Given the description of an element on the screen output the (x, y) to click on. 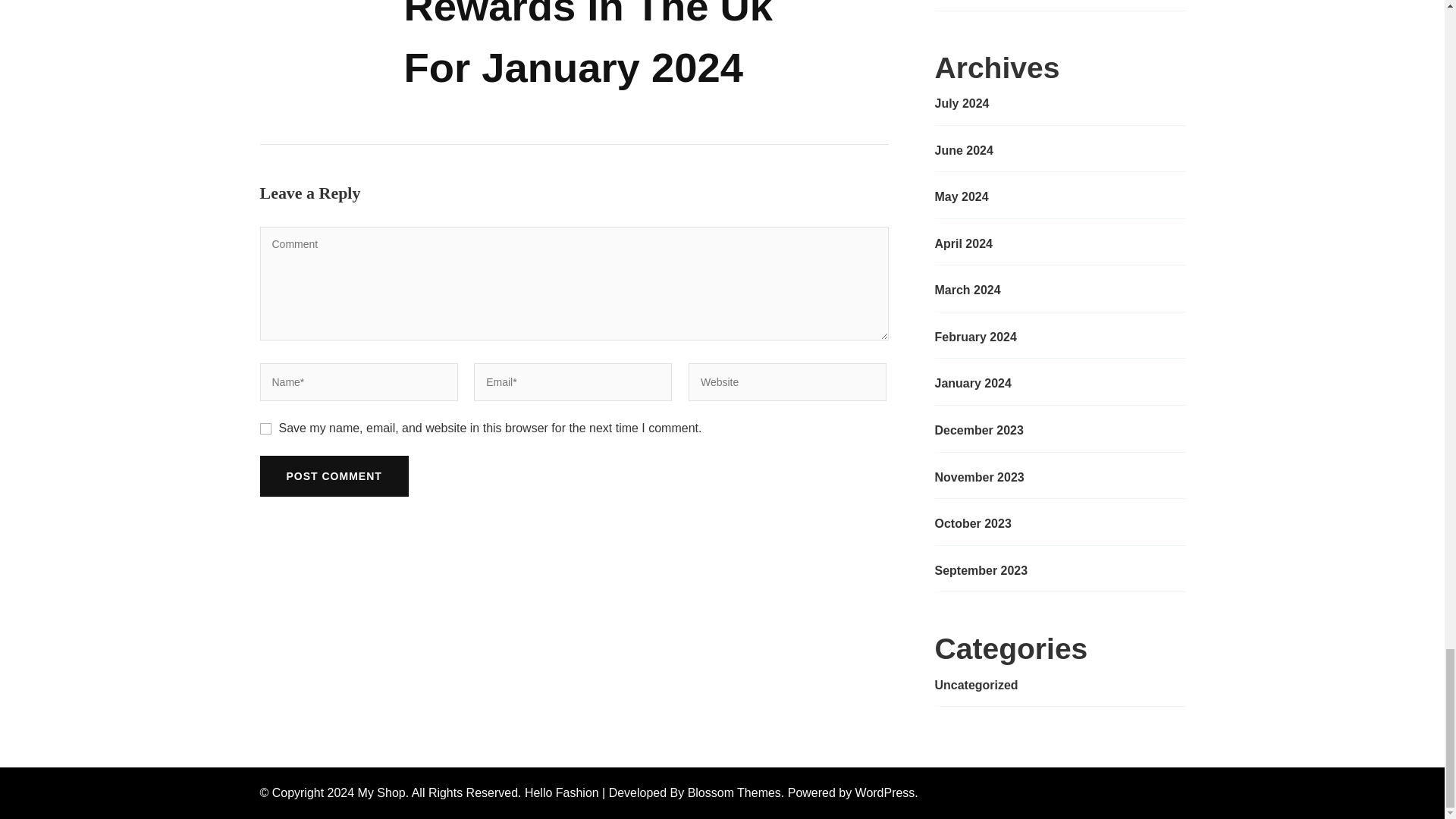
Post Comment (333, 475)
Post Comment (333, 475)
